Given the description of an element on the screen output the (x, y) to click on. 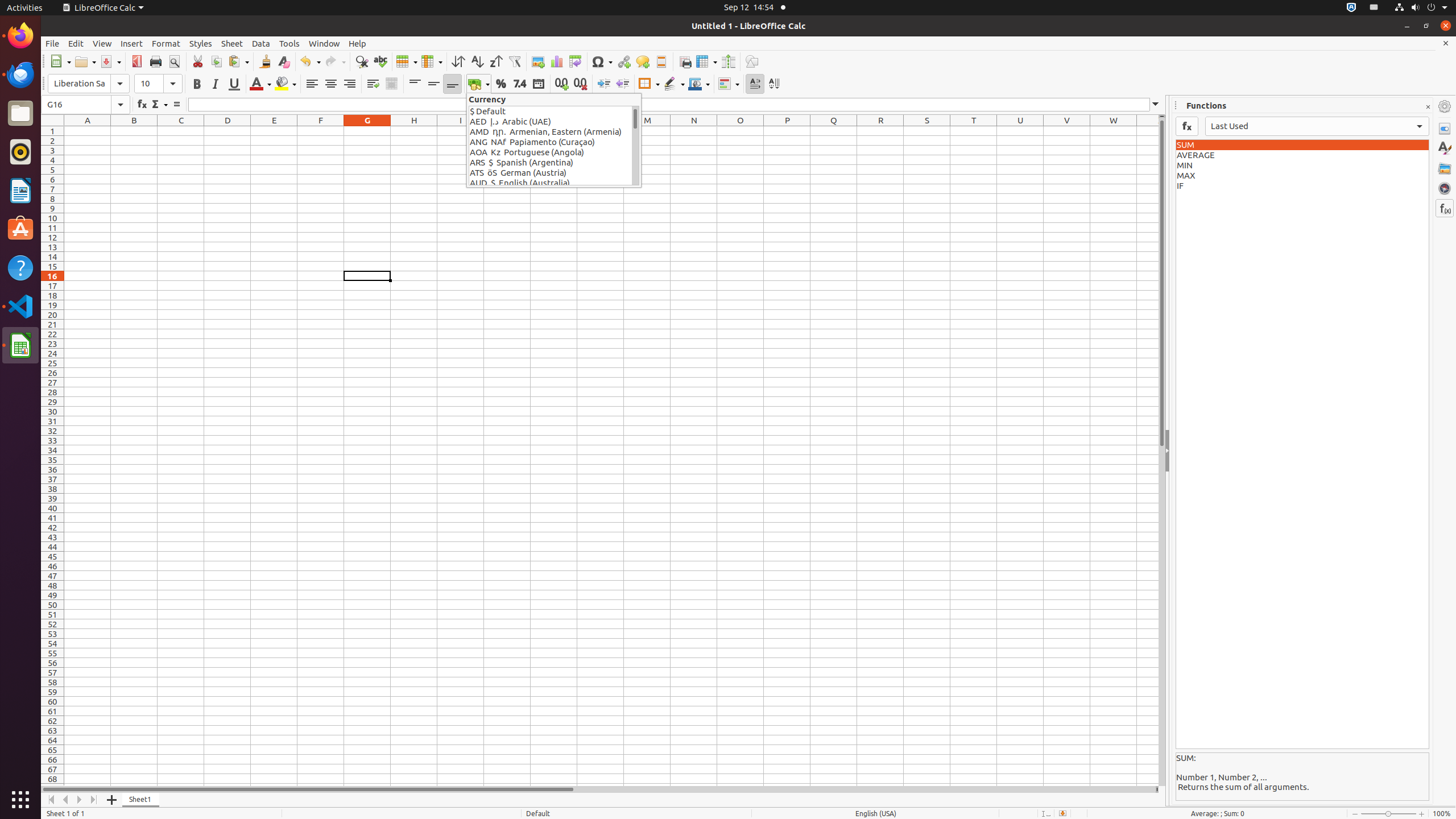
Freeze Rows and Columns Element type: push-button (705, 61)
:1.72/StatusNotifierItem Element type: menu (1350, 7)
Print Preview Element type: toggle-button (173, 61)
Save Element type: push-button (109, 61)
‪ATS‬  ‪öS‬  ‪German (Austria)‬ Element type: list-item (550, 172)
